Given the description of an element on the screen output the (x, y) to click on. 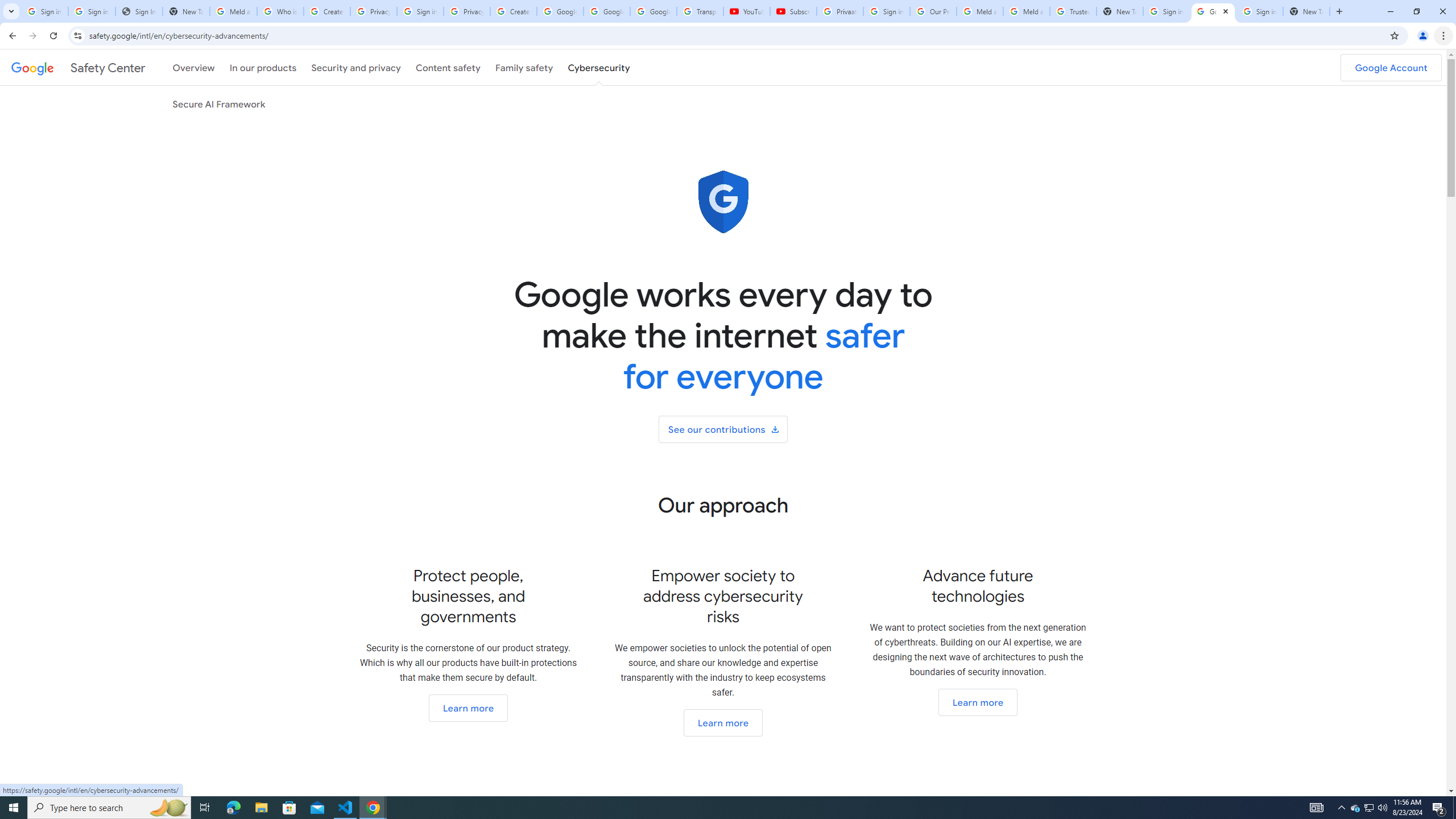
In our products (262, 67)
Subscriptions - YouTube (792, 11)
Sign in - Google Accounts (44, 11)
Sign in - Google Accounts (886, 11)
Safety Center (78, 67)
